Given the description of an element on the screen output the (x, y) to click on. 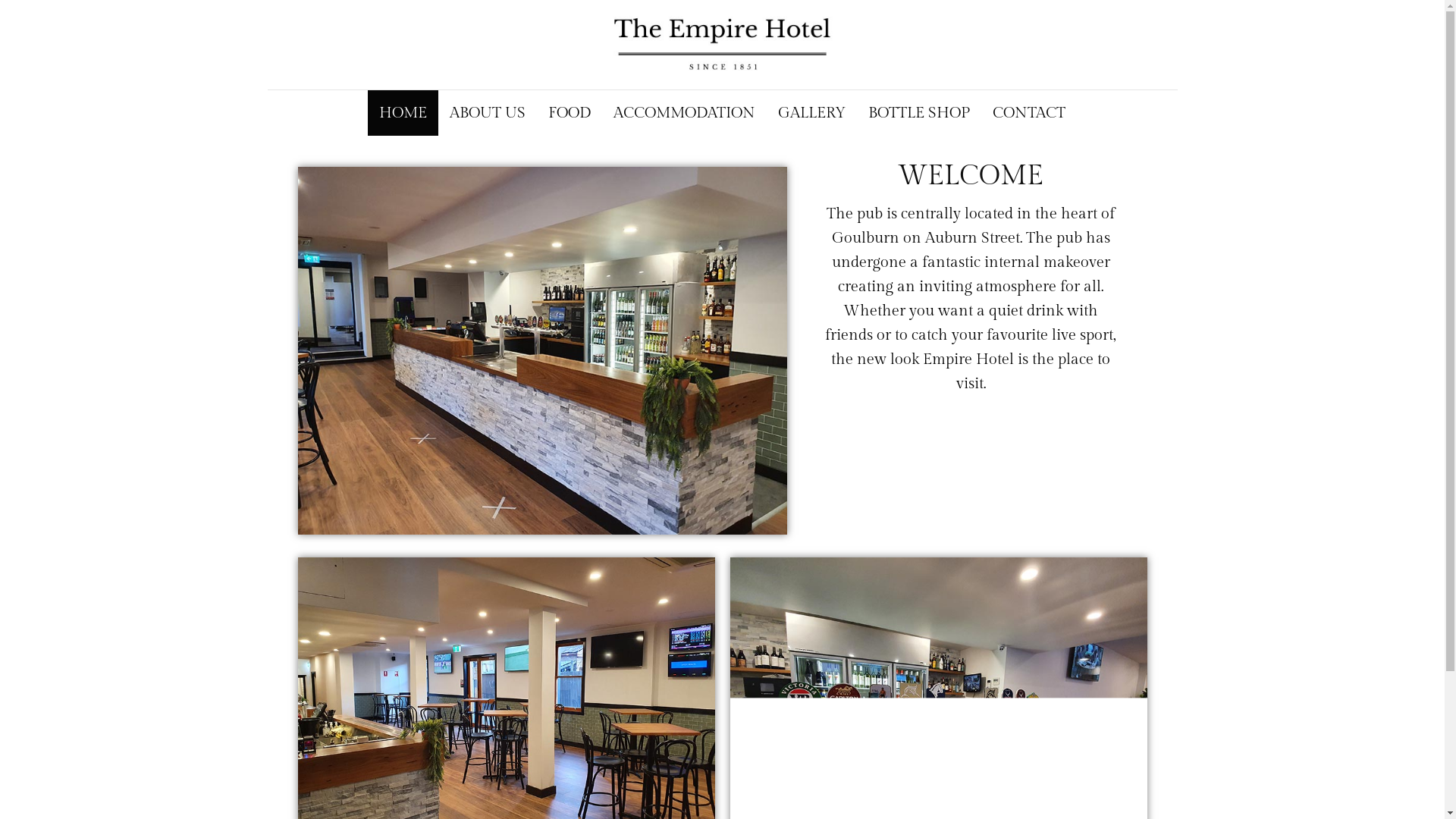
CONTACT Element type: text (1028, 112)
Search Element type: text (31, 17)
ABOUT US Element type: text (487, 112)
GALLERY Element type: text (811, 112)
FOOD Element type: text (569, 112)
Search Element type: text (51, 15)
BOTTLE SHOP Element type: text (918, 112)
ACCOMMODATION Element type: text (684, 112)
HOME Element type: text (402, 112)
